Given the description of an element on the screen output the (x, y) to click on. 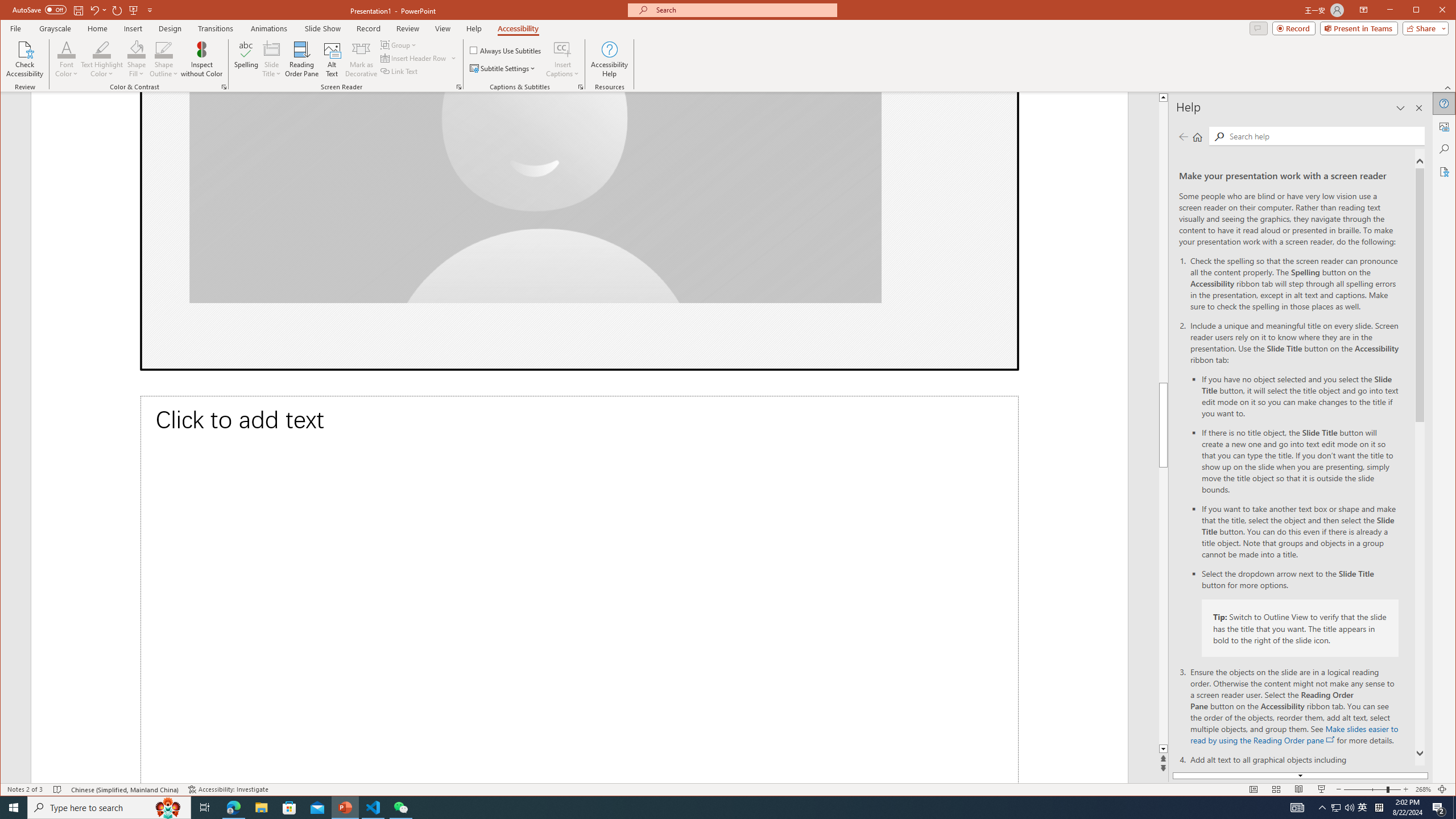
Type here to search (108, 807)
Show desktop (1454, 807)
PowerPoint - 1 running window (345, 807)
Zoom 268% (1422, 789)
Reading Order Pane (301, 59)
Check Accessibility (25, 59)
Line up (1362, 807)
Search highlights icon opens search home window (1279, 96)
Insert Captions (167, 807)
